Given the description of an element on the screen output the (x, y) to click on. 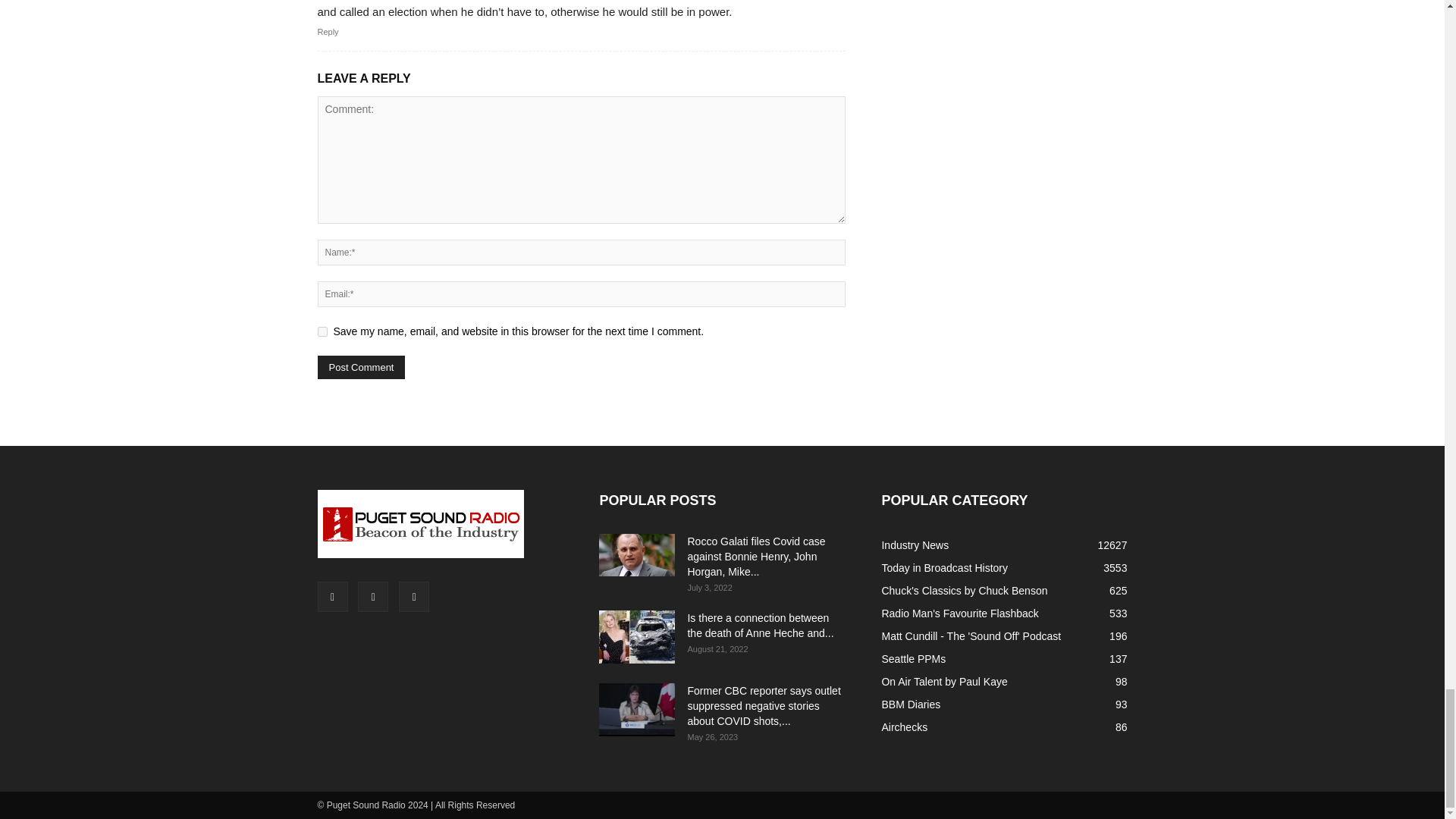
Post Comment (360, 367)
yes (321, 331)
